Given the description of an element on the screen output the (x, y) to click on. 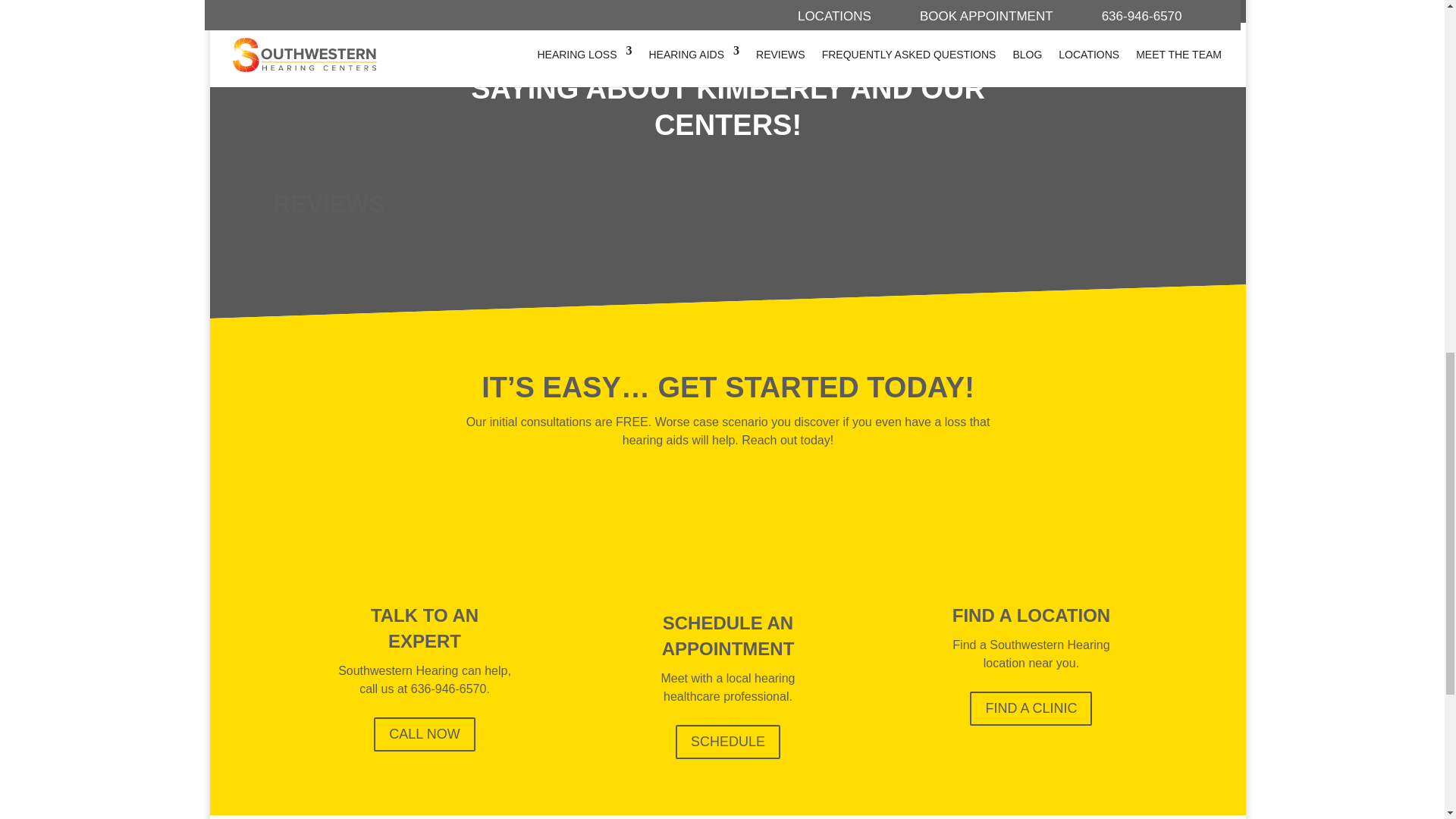
SCHEDULE (727, 741)
FIND A CLINIC (1030, 708)
CALL NOW (424, 734)
